Given the description of an element on the screen output the (x, y) to click on. 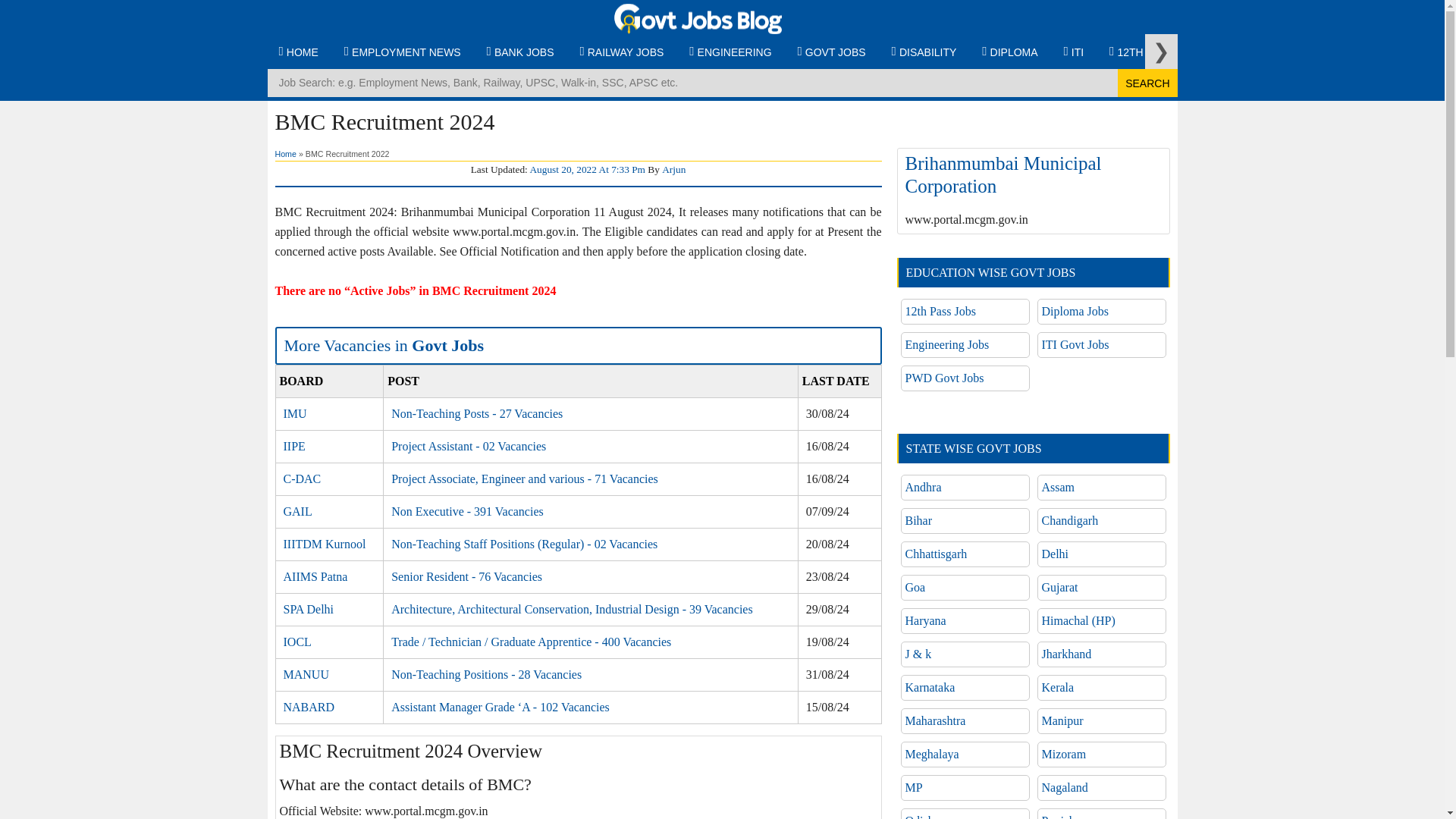
IIITDM Kurnool (324, 543)
EMPLOYMENT NEWS (402, 52)
Non-Teaching Positions - 28 Vacancies (485, 674)
RAILWAY JOBS (621, 52)
AIIMS Patna (315, 576)
GOVT JOBS (831, 52)
SPA Delhi (308, 608)
MANUU (306, 674)
Search (1147, 83)
HOME (297, 52)
